Given the description of an element on the screen output the (x, y) to click on. 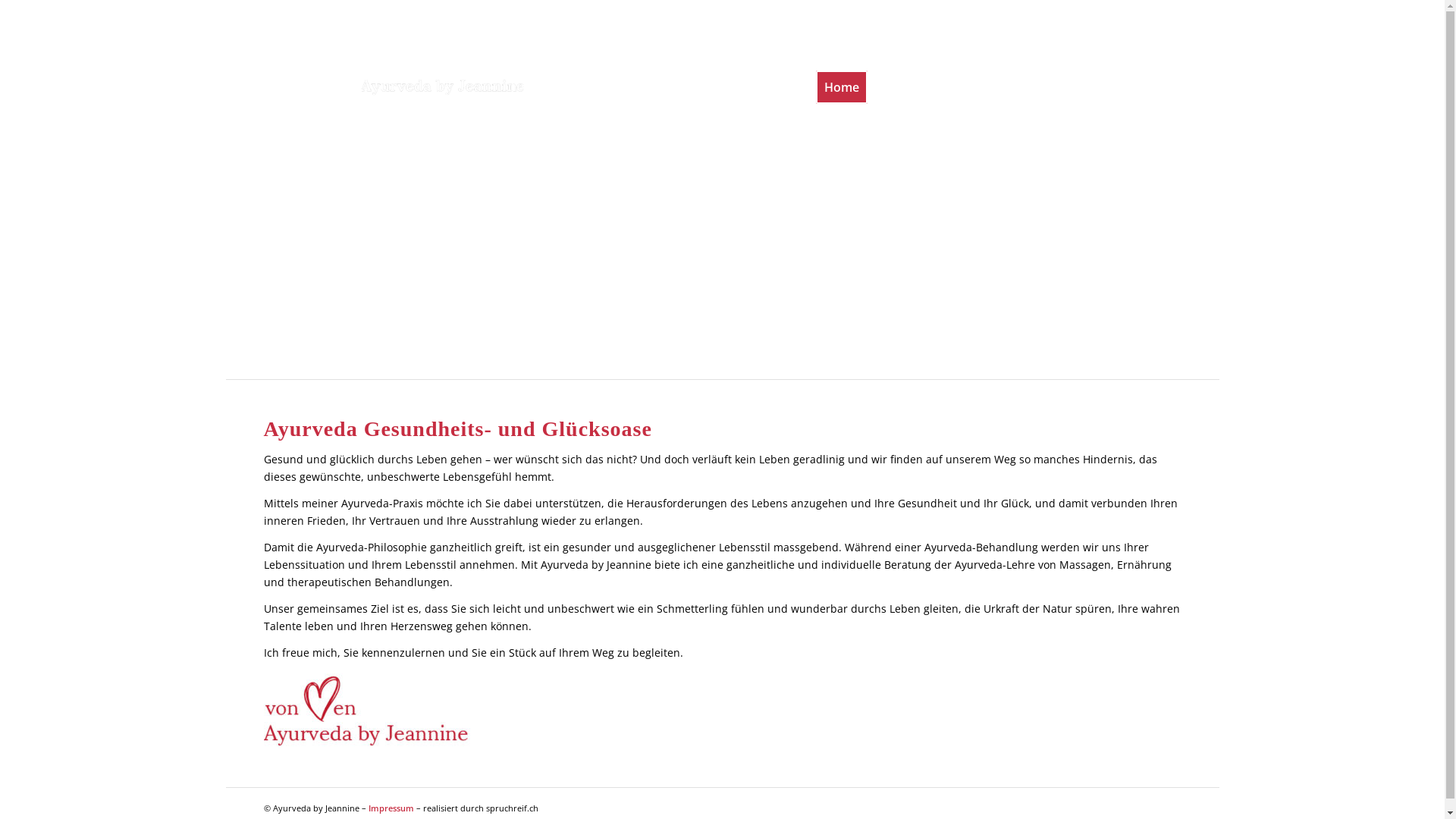
Impressum Element type: text (391, 807)
Home Element type: text (840, 86)
Massage Element type: text (983, 86)
Kontakt Element type: text (1157, 10)
Ayurveda Element type: text (910, 86)
